Given the description of an element on the screen output the (x, y) to click on. 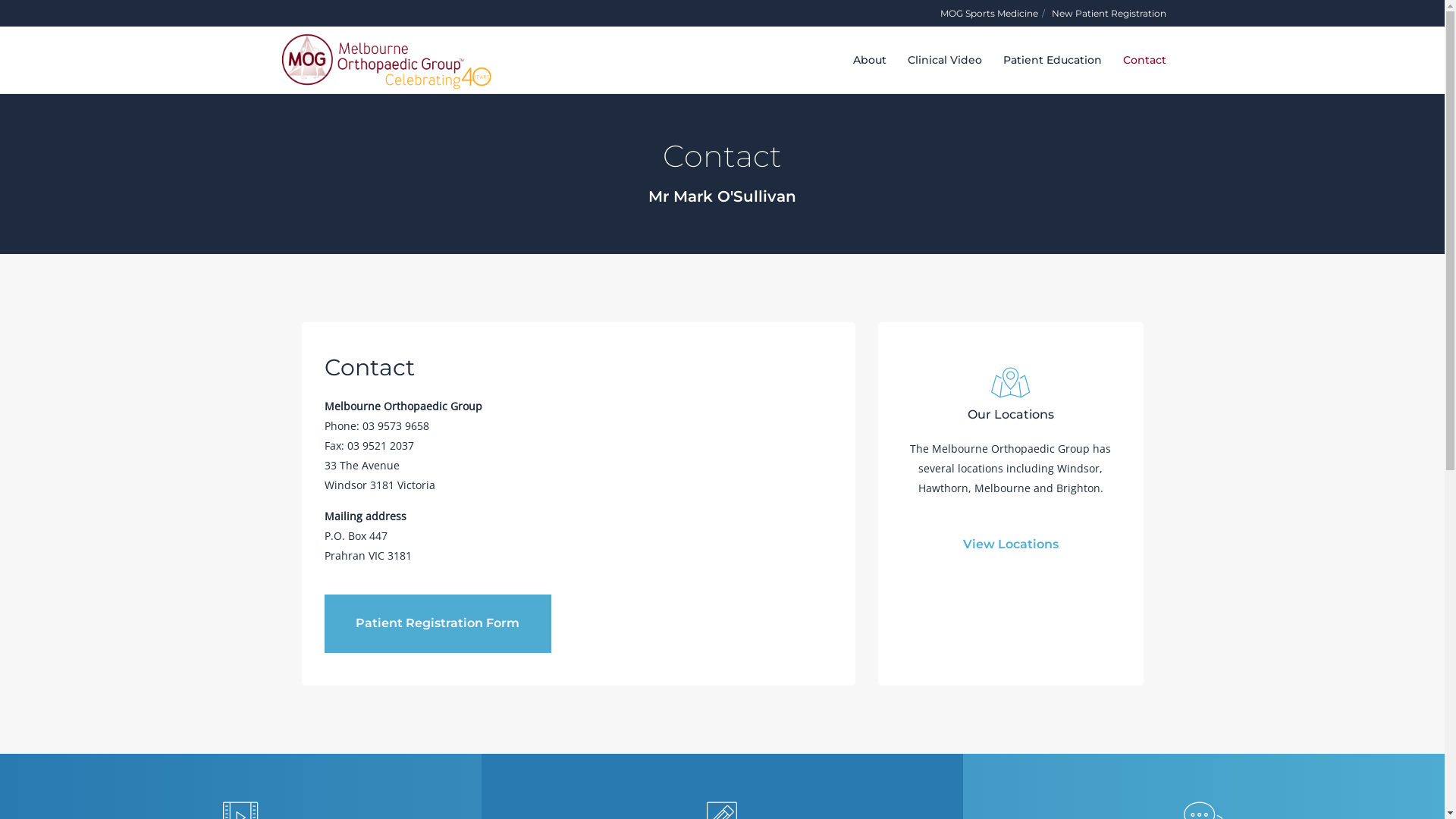
Patient Education Element type: text (1041, 59)
Contact Element type: text (1133, 59)
View Locations Element type: text (1010, 549)
Patient Registration Form Element type: text (437, 623)
Clinical Video Element type: text (933, 59)
New Patient Registration Element type: text (1108, 12)
MOG Sports Medicine Element type: text (989, 12)
About Element type: text (858, 59)
